Given the description of an element on the screen output the (x, y) to click on. 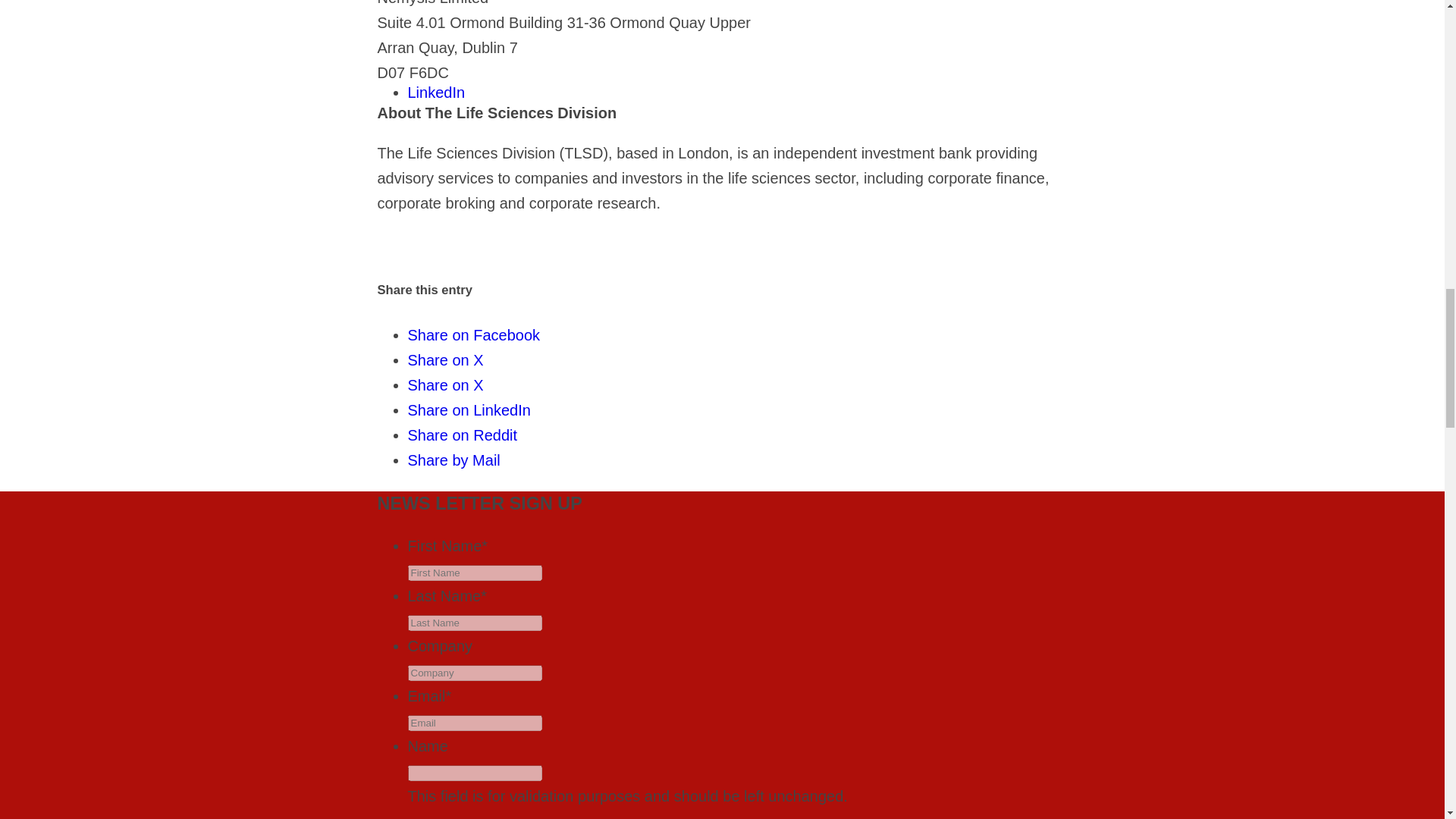
LinkedIn (436, 92)
Share by Mail (453, 460)
Share on X (445, 384)
LinkedIn (436, 92)
Share on X (445, 360)
Share on Facebook (473, 334)
Share on LinkedIn (469, 410)
Share on Reddit (462, 434)
